Given the description of an element on the screen output the (x, y) to click on. 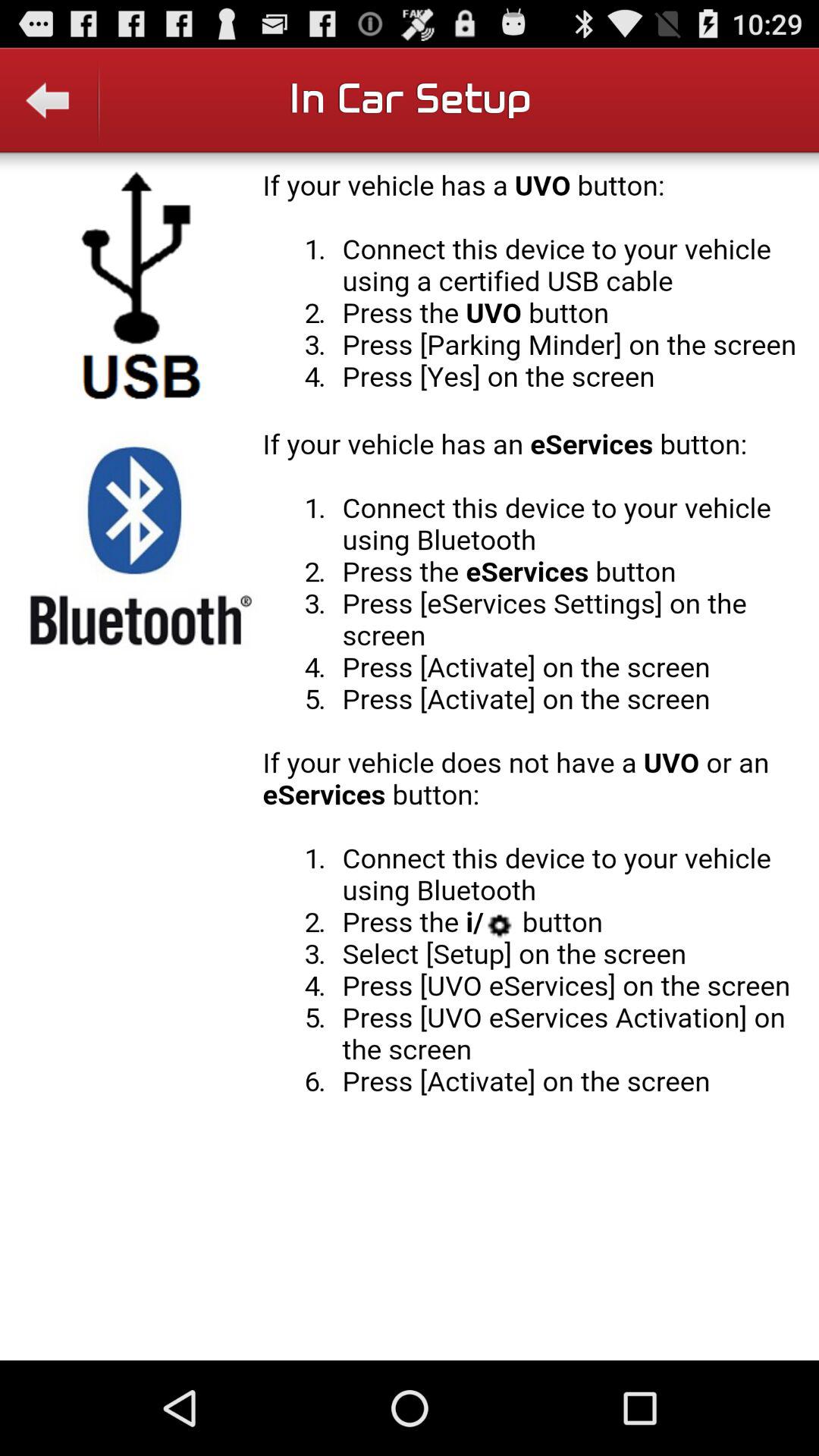
go back (49, 110)
